Given the description of an element on the screen output the (x, y) to click on. 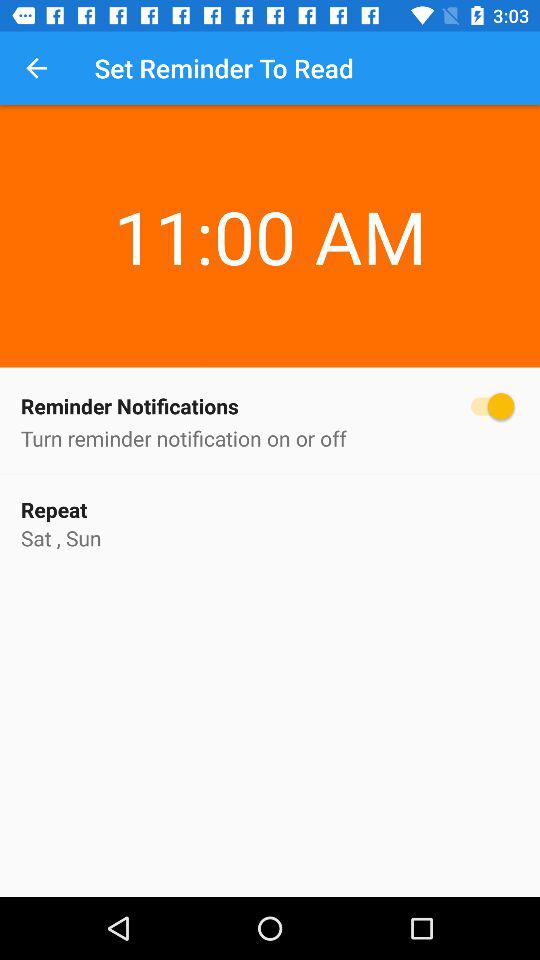
turn on the item below the 11:00 am icon (270, 406)
